Given the description of an element on the screen output the (x, y) to click on. 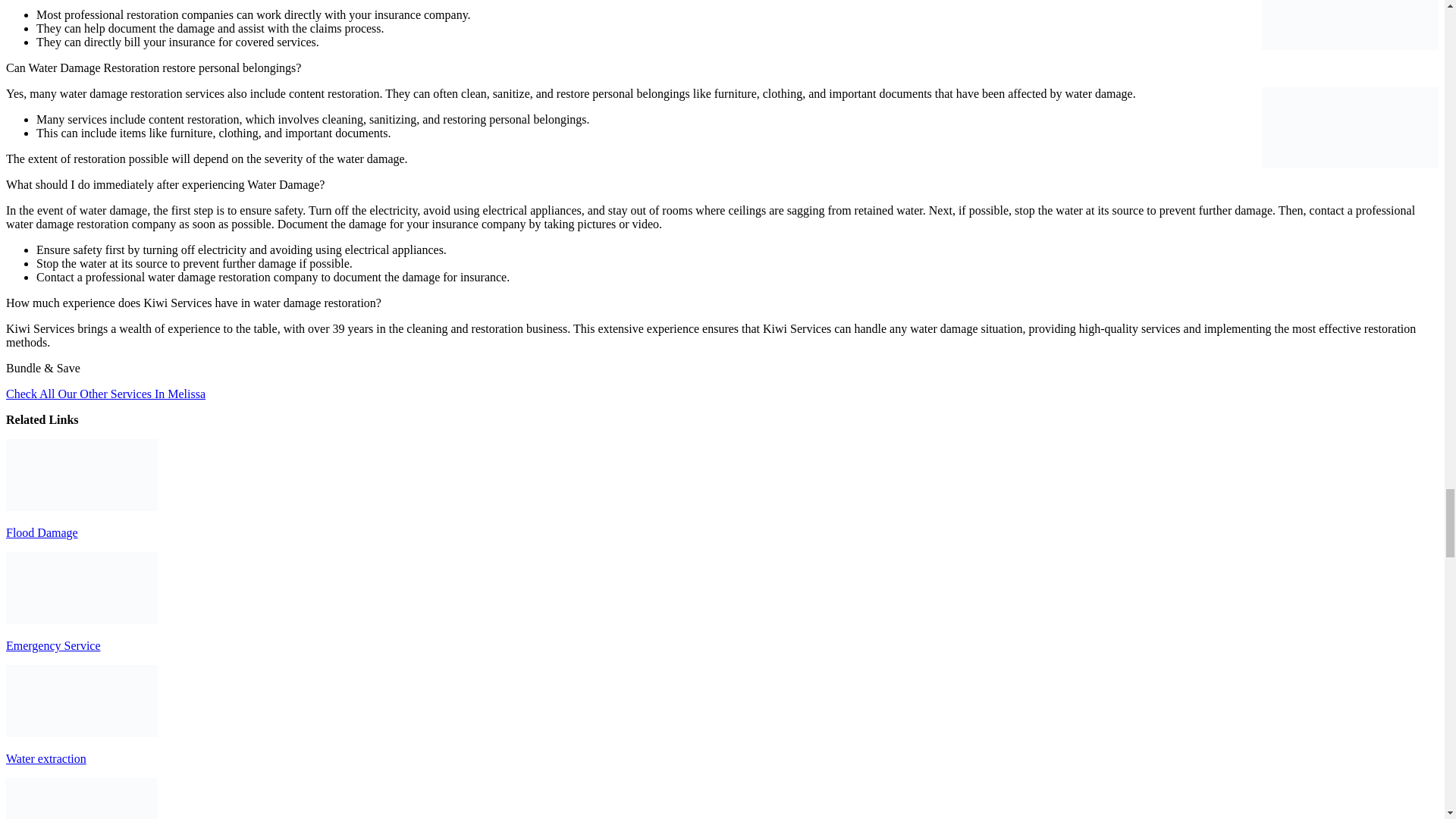
Water extraction (81, 701)
Flood Damage (81, 474)
Emergency Service (81, 588)
Rug Restoration (81, 798)
